Given the description of an element on the screen output the (x, y) to click on. 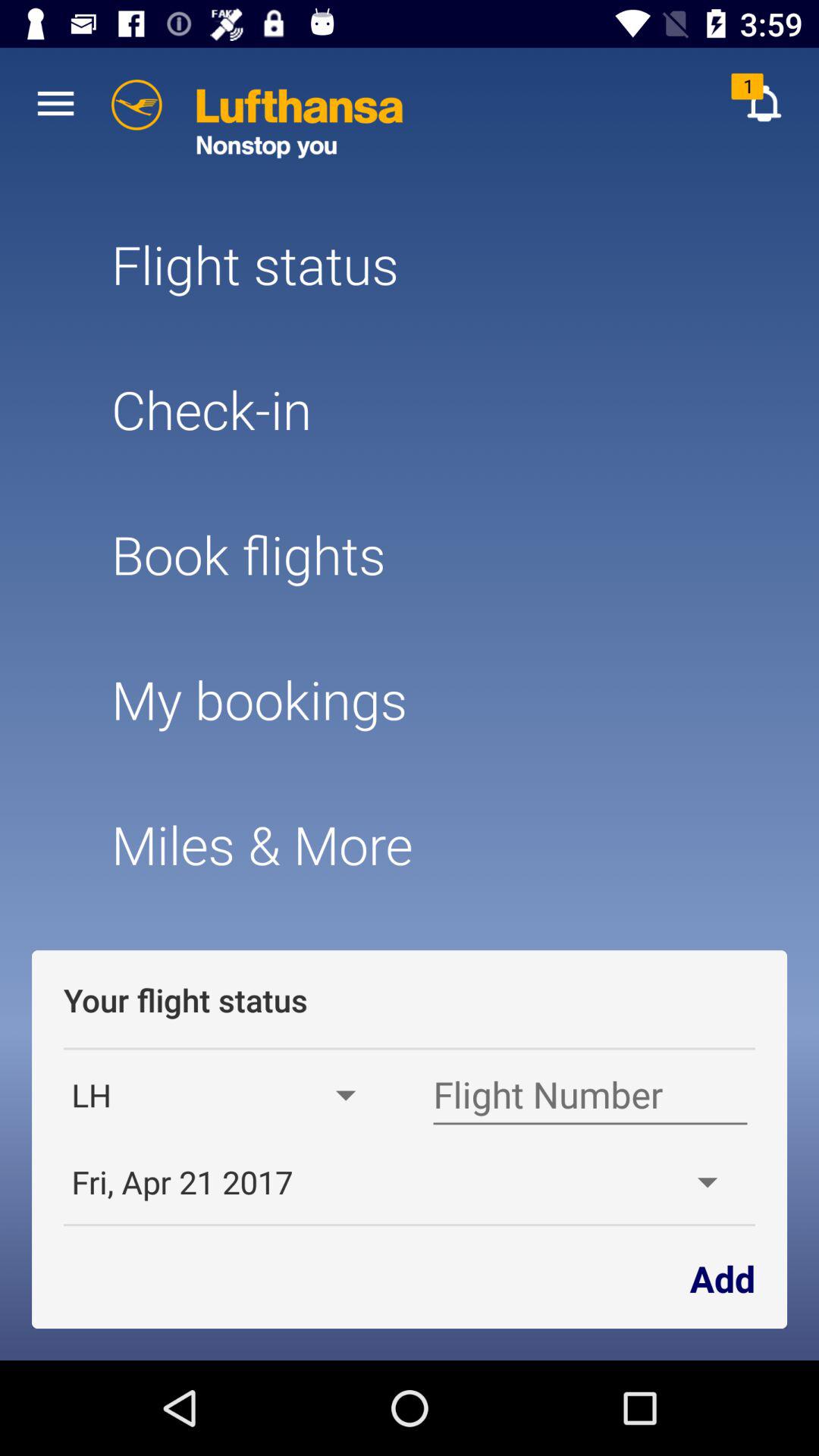
input flight number (590, 1094)
